Given the description of an element on the screen output the (x, y) to click on. 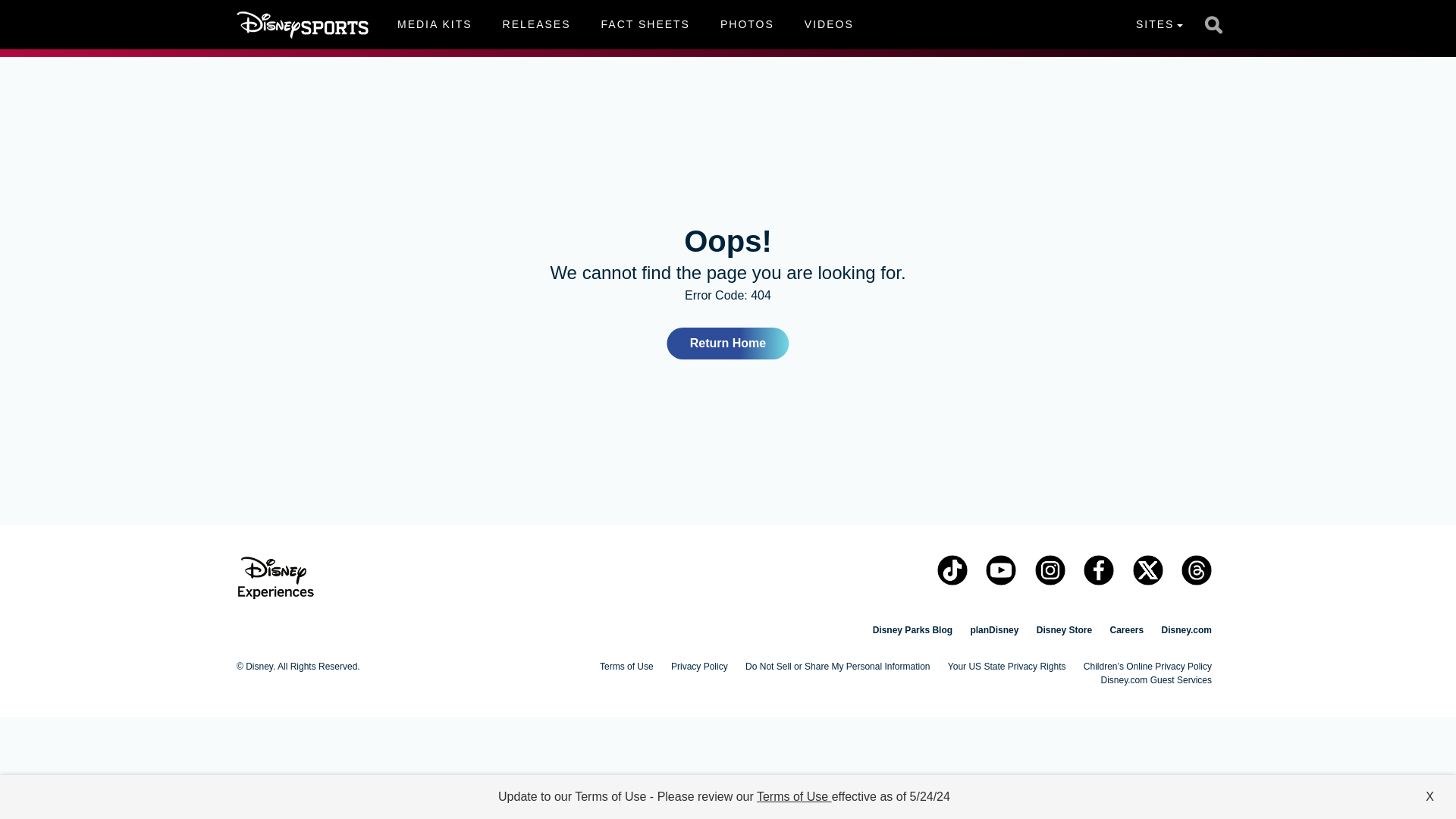
SITES (1159, 24)
Return Home (727, 343)
Disney Parks Blog (912, 629)
Disney Store (1064, 629)
MEDIA KITS (434, 24)
VIDEOS (828, 24)
Skip to content (40, 8)
planDisney (993, 629)
RELEASES (625, 24)
